Given the description of an element on the screen output the (x, y) to click on. 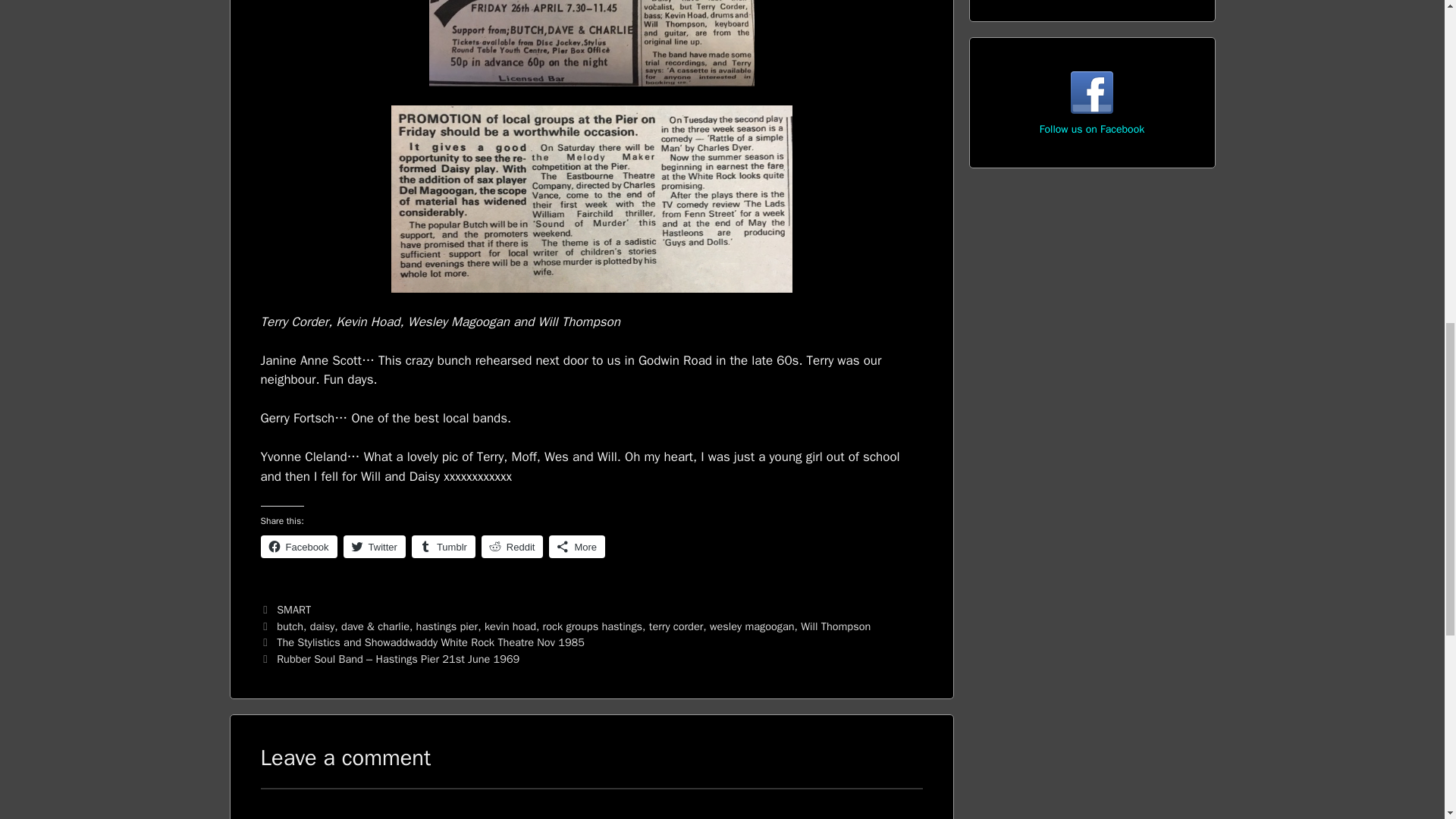
Will Thompson (835, 626)
The Stylistics and Showaddwaddy White Rock Theatre Nov 1985 (430, 642)
rock groups hastings (593, 626)
More (576, 546)
Click to share on Facebook (298, 546)
daisy (322, 626)
Comment Form (591, 803)
Click to share on Twitter (374, 546)
SMART (293, 609)
wesley magoogan (752, 626)
